Given the description of an element on the screen output the (x, y) to click on. 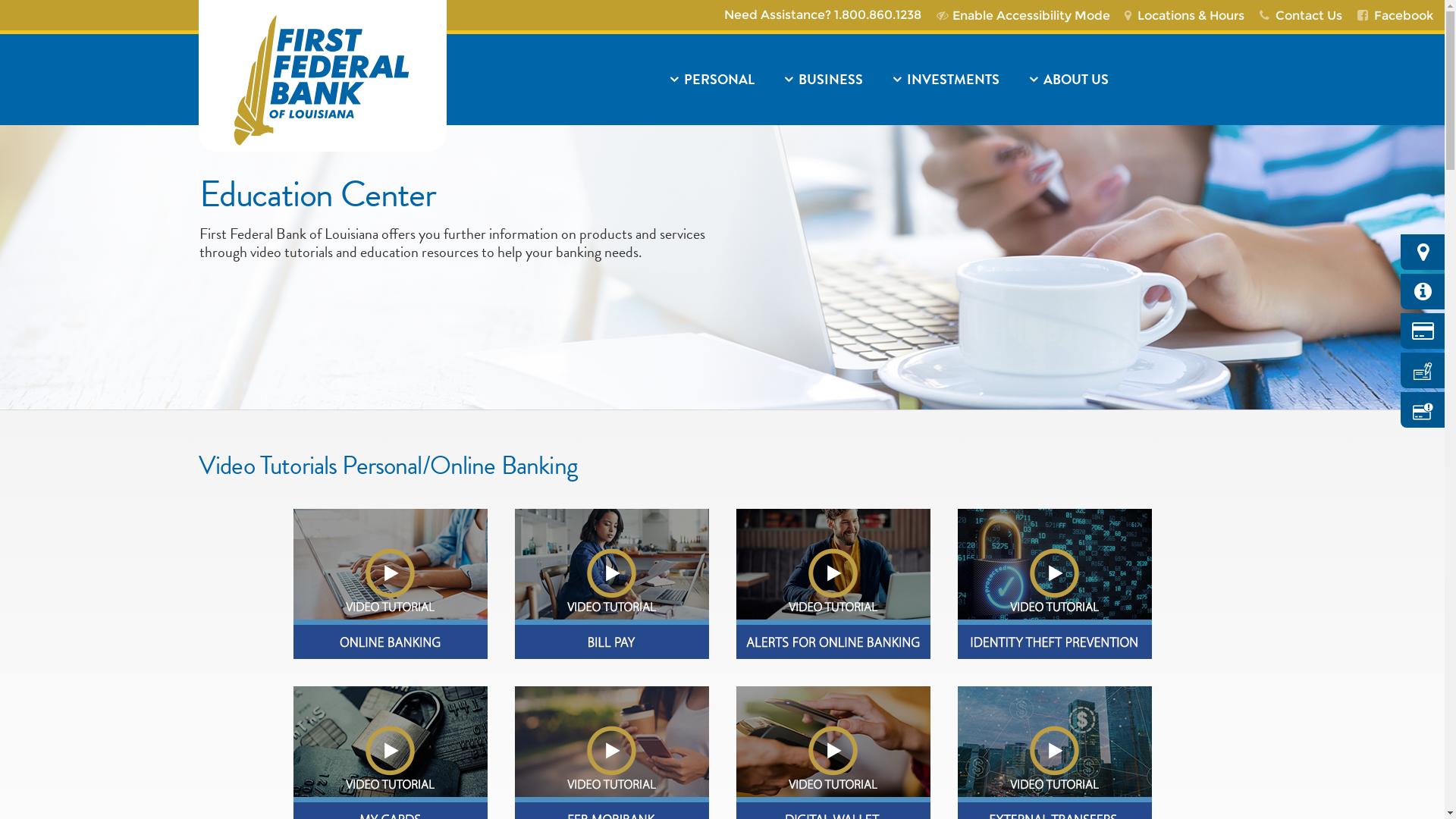
Report Lost or Stolen Card Element type: text (1422, 409)
PERSONAL Element type: text (711, 79)
Facebook Element type: text (1398, 15)
Interactive Video Player Element type: hover (1054, 581)
Interactive Video Player Element type: hover (611, 581)
Reorder Debit Card Element type: text (1422, 330)
BUSINESS Element type: text (822, 79)
Interactive Video Player Element type: hover (611, 758)
Interactive Video Player Element type: hover (389, 758)
Enable Accessibility Mode Element type: text (1026, 15)
Interactive Video Player Element type: hover (832, 581)
Locations & Hours Element type: text (1188, 15)
Education Center Element type: text (1422, 291)
Contact Us Element type: text (1304, 15)
Locations Element type: text (1422, 251)
ABOUT US Element type: text (1129, 79)
Interactive Video Player Element type: hover (1054, 758)
Reorder Checks Element type: text (1422, 370)
Interactive Video Player Element type: hover (389, 581)
Interactive Video Player Element type: hover (832, 758)
INVESTMENTS Element type: text (945, 79)
